Given the description of an element on the screen output the (x, y) to click on. 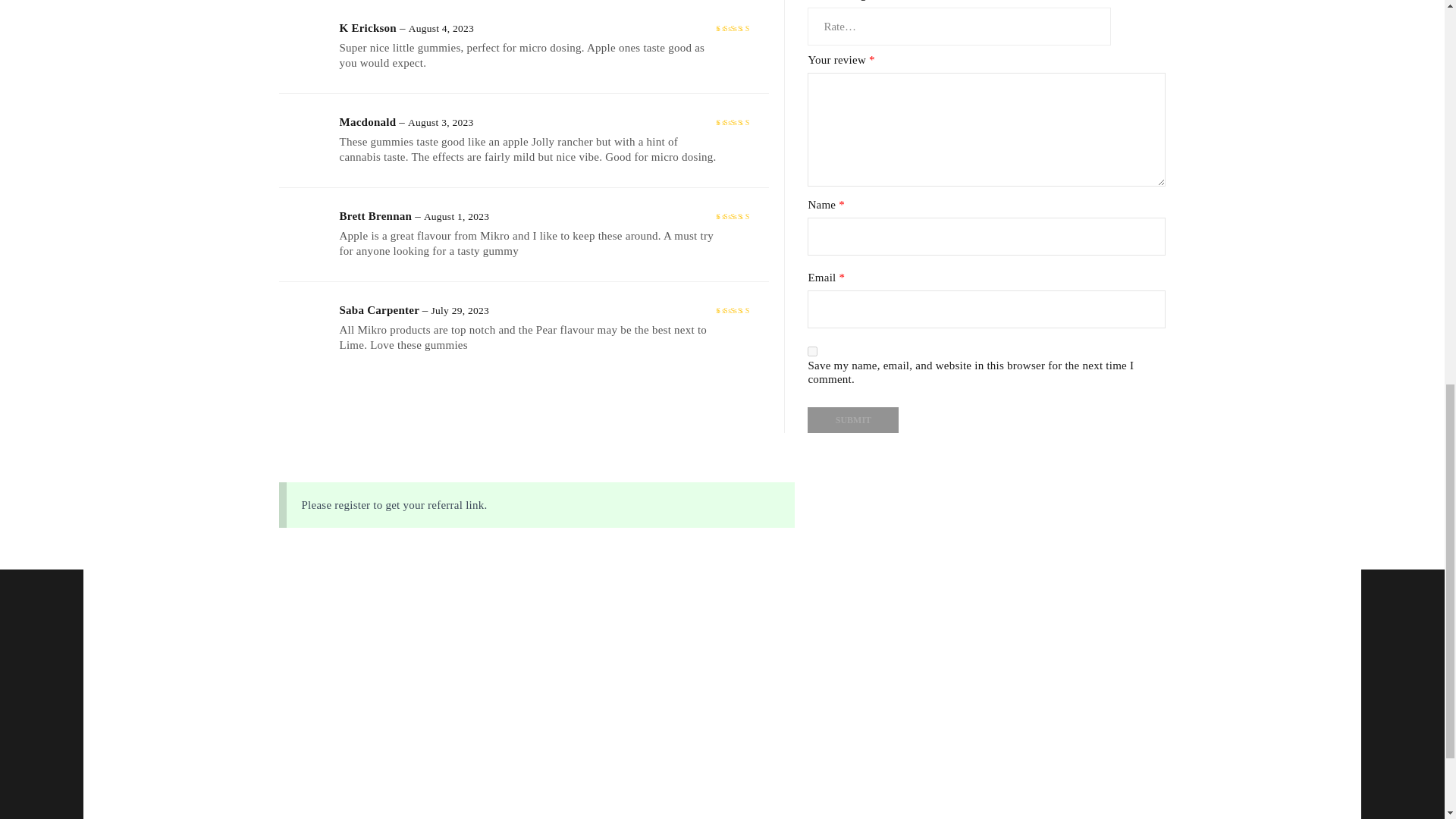
yes (812, 351)
Submit (853, 419)
